Given the description of an element on the screen output the (x, y) to click on. 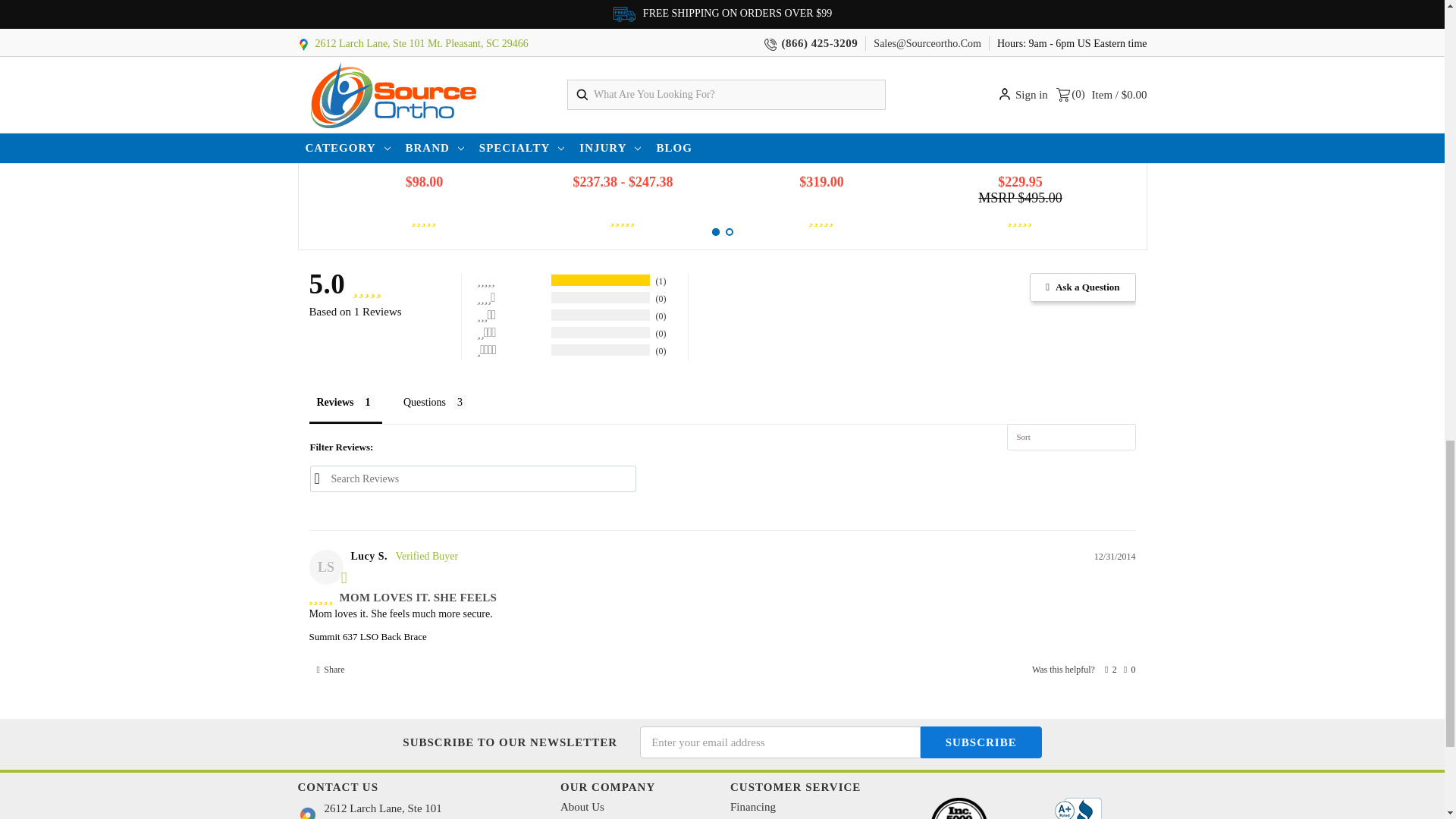
Subscribe (981, 742)
